Given the description of an element on the screen output the (x, y) to click on. 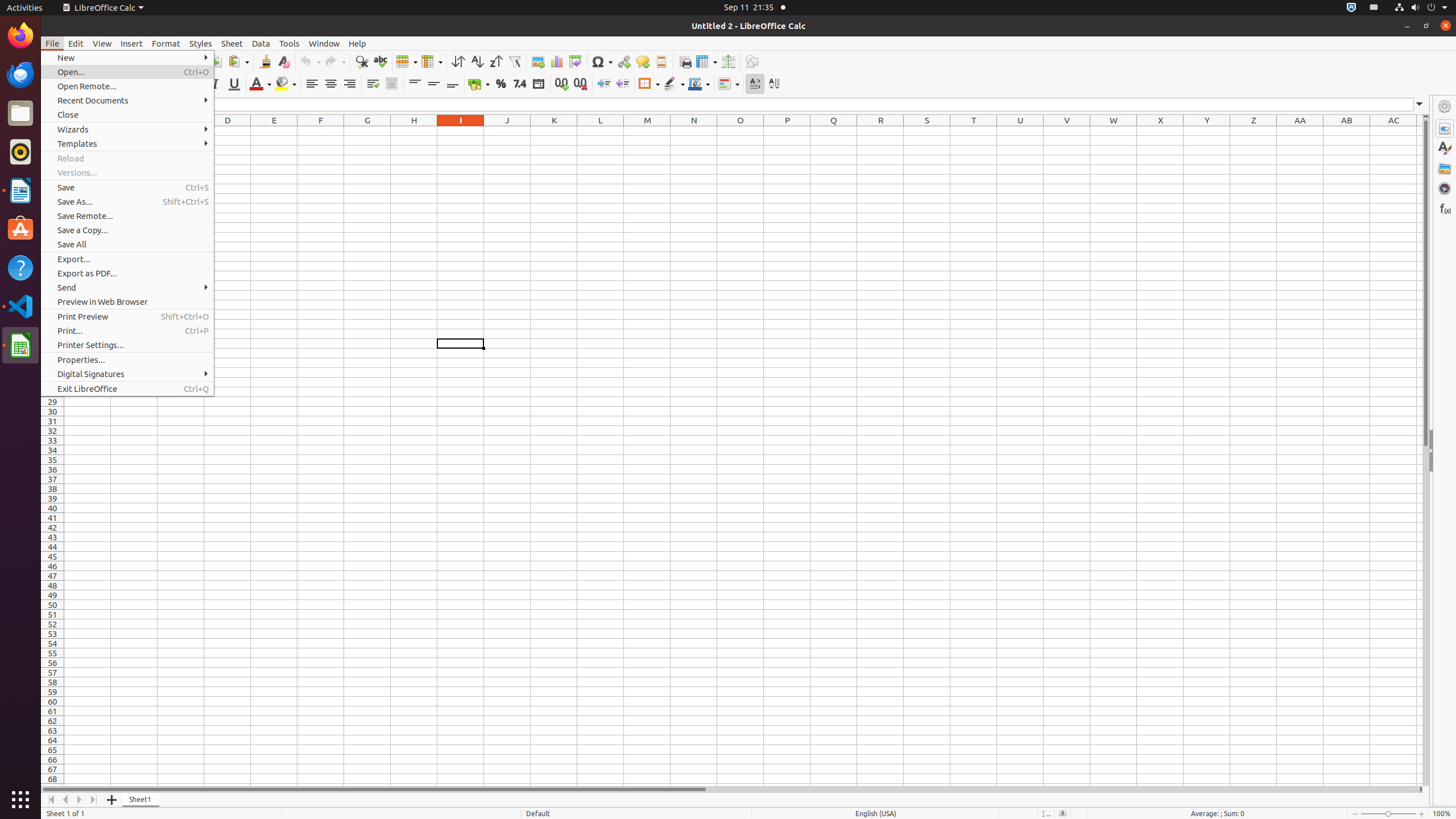
P1 Element type: table-cell (786, 130)
Move To Home Element type: push-button (51, 799)
Q1 Element type: table-cell (833, 130)
Align Center Element type: push-button (330, 83)
Border Color Element type: push-button (698, 83)
